Given the description of an element on the screen output the (x, y) to click on. 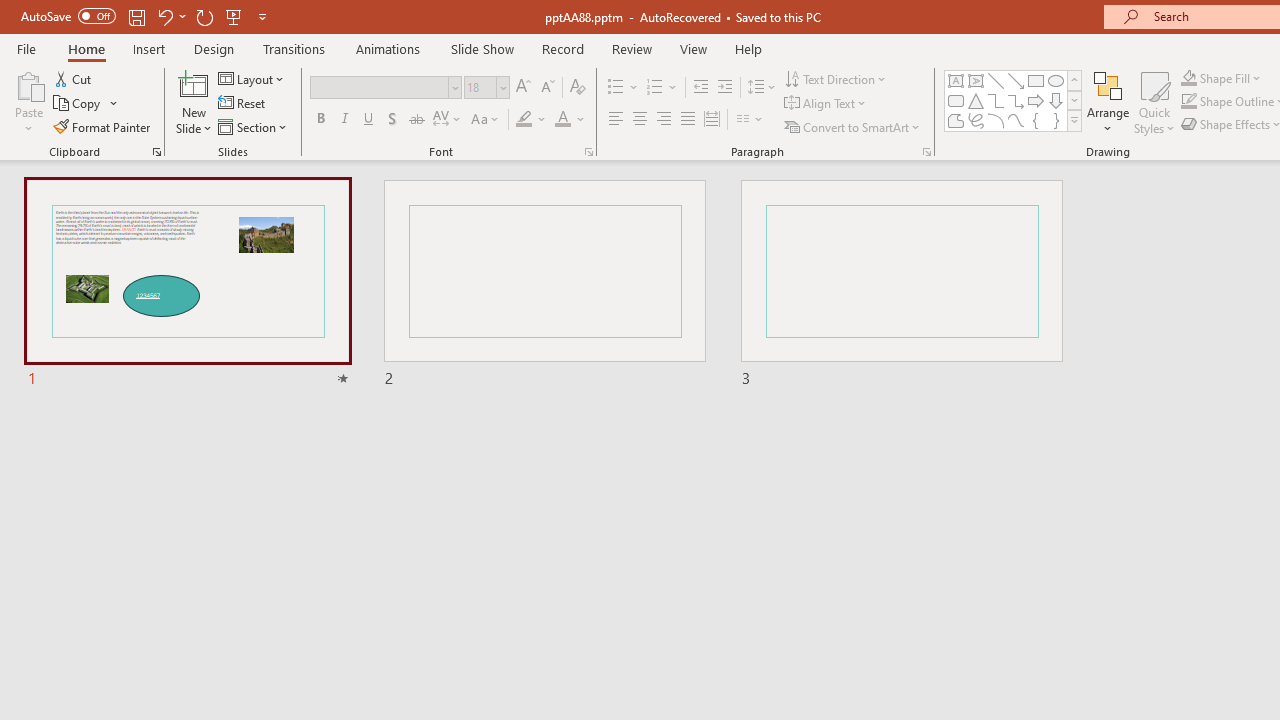
Decrease Font Size (547, 87)
Change Case (486, 119)
Line Arrow (1016, 80)
Paragraph... (926, 151)
Align Text (826, 103)
Shape Outline Teal, Accent 1 (1188, 101)
Quick Styles (1154, 102)
Vertical Text Box (975, 80)
